Given the description of an element on the screen output the (x, y) to click on. 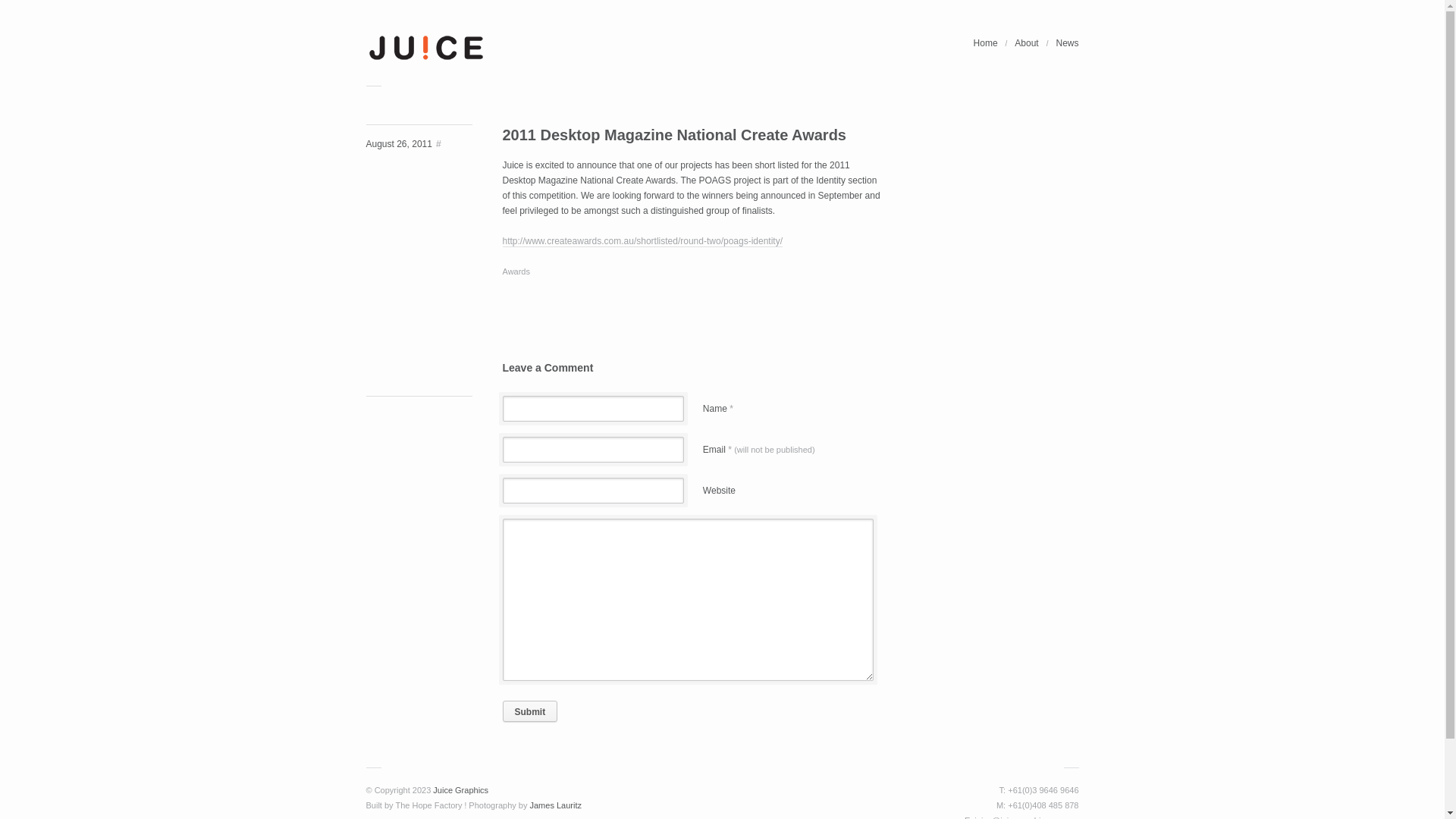
About Element type: text (1026, 42)
Juice Graphics Element type: text (460, 789)
Home Element type: text (985, 42)
News Element type: text (1063, 42)
# Element type: text (436, 143)
James Lauritz Element type: text (554, 804)
Awards Element type: text (515, 271)
Submit Element type: text (529, 710)
